Given the description of an element on the screen output the (x, y) to click on. 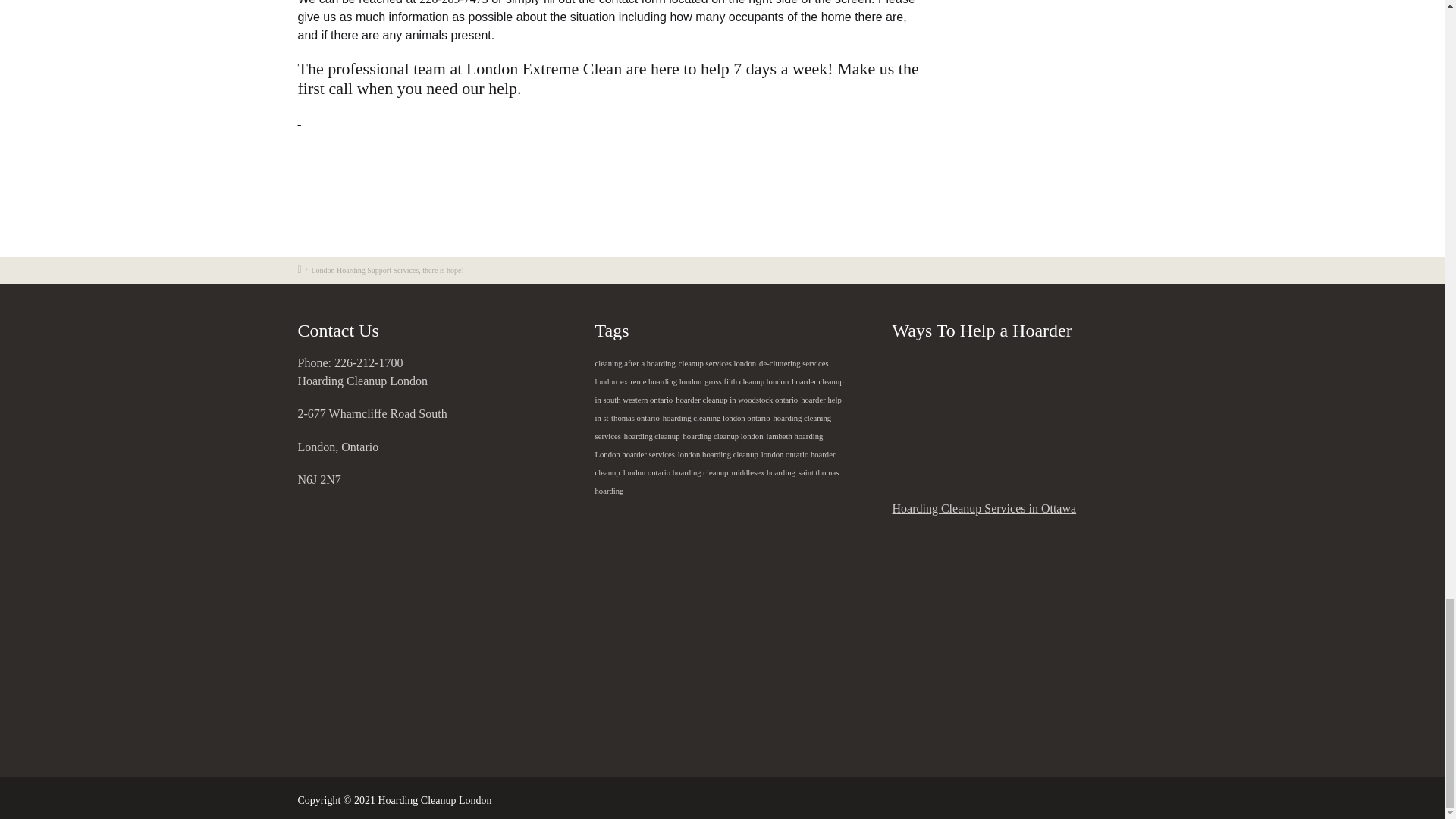
middlesex hoarding (762, 472)
hoarding cleanup london (722, 436)
london ontario hoarder cleanup (714, 463)
de-cluttering services london (711, 372)
cleanup services london (716, 363)
london ontario hoarding cleanup (676, 472)
hoarder cleanup in south western ontario (718, 390)
saint thomas hoarding (716, 481)
hoarder cleanup in woodstock ontario (736, 399)
hoarder help in st-thomas ontario (717, 408)
